Given the description of an element on the screen output the (x, y) to click on. 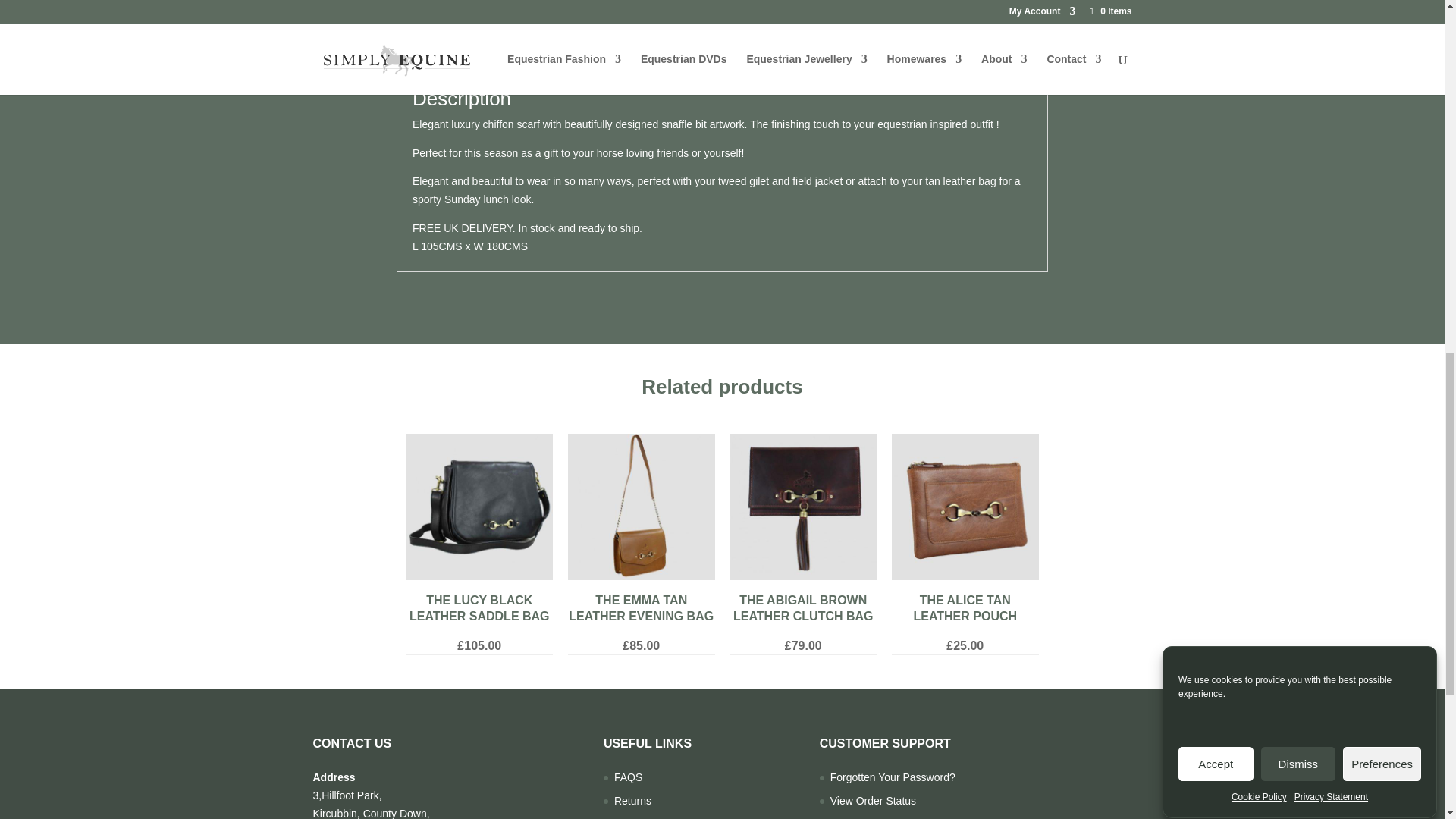
Accept (1215, 248)
Dismiss (1298, 217)
Cookie Policy (1259, 140)
Privacy Statement (1331, 118)
Preferences (1381, 202)
